Given the description of an element on the screen output the (x, y) to click on. 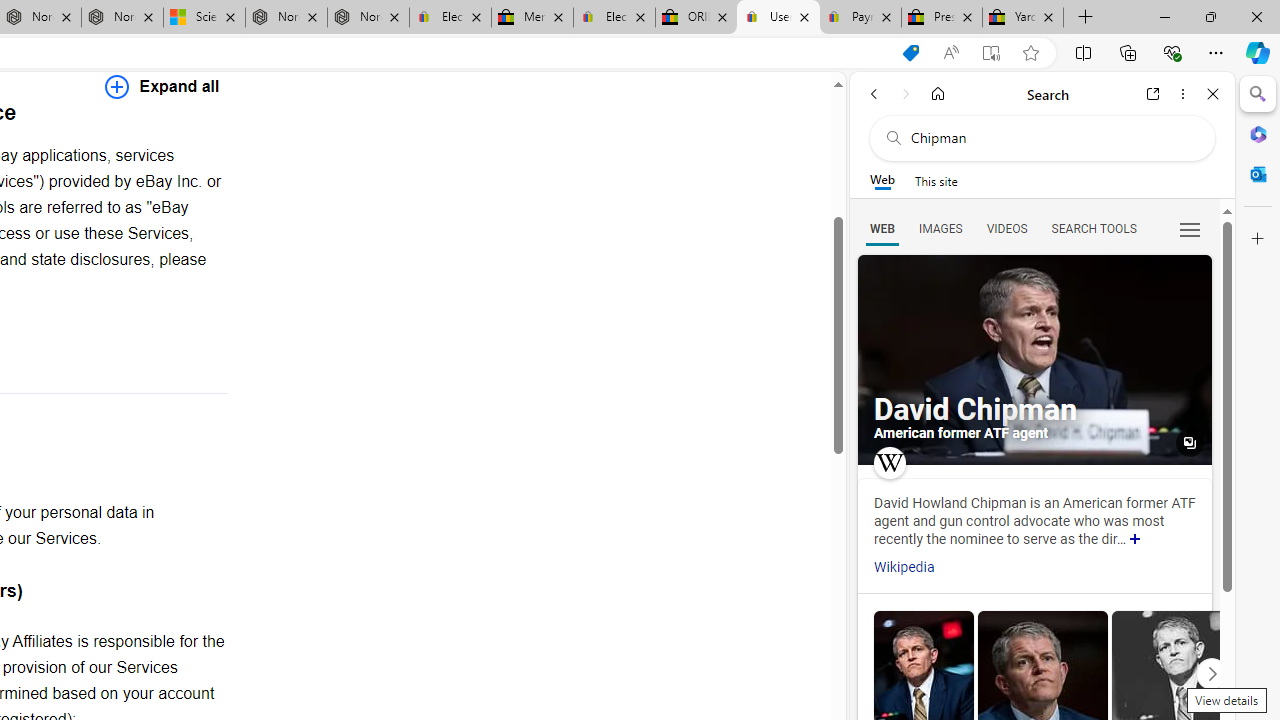
All images (1034, 359)
